Given the description of an element on the screen output the (x, y) to click on. 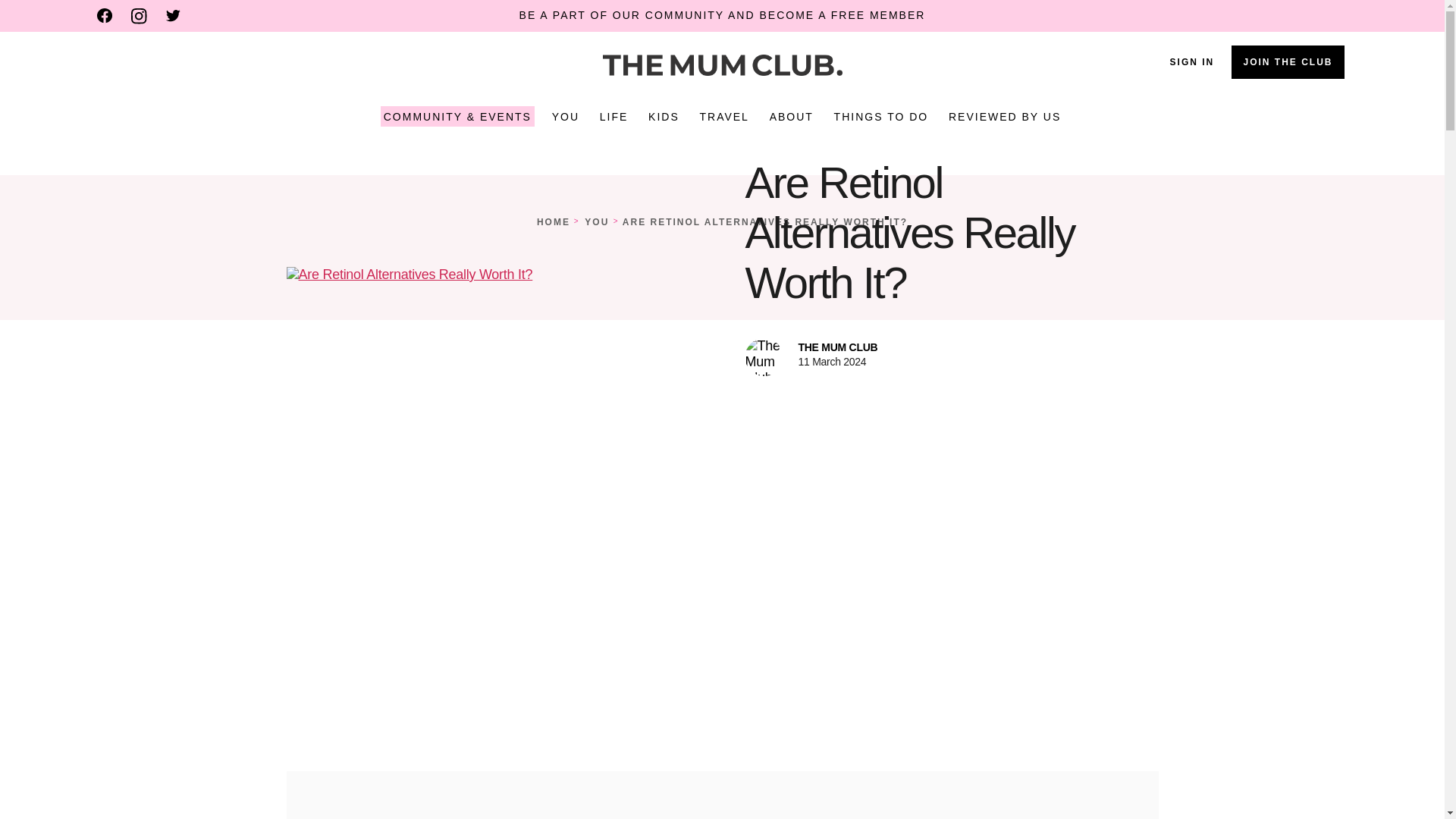
The Mum Club Logo (721, 65)
KIDS (663, 116)
The Mum Club (721, 65)
LIFE (613, 116)
BE A PART OF OUR COMMUNITY AND BECOME A FREE MEMBER (722, 15)
Social Link (172, 15)
Sign In (1192, 61)
Social Link (105, 15)
YOU (565, 116)
JOIN THE CLUB (1287, 61)
Social Link (139, 16)
Join The Club (1287, 61)
SIGN IN (1192, 61)
